Given the description of an element on the screen output the (x, y) to click on. 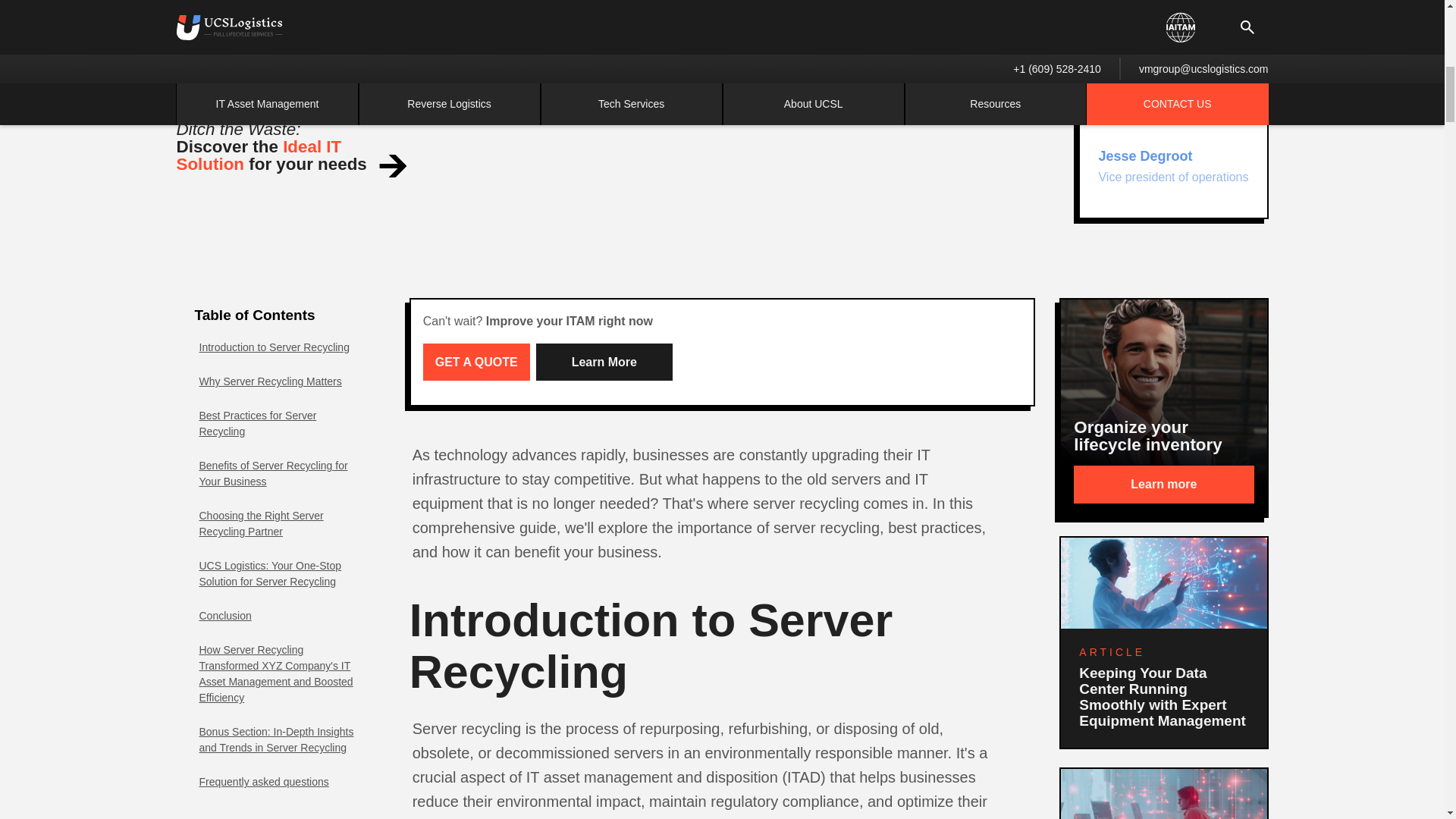
Home (189, 61)
Why Server Recycling Matters (269, 381)
Learn More (603, 362)
Choosing the Right Server Recycling Partner (279, 523)
GET A QUOTE (476, 362)
UCS Logistics: Your One-Stop Solution for Server Recycling (279, 573)
Articles (249, 61)
Frequently asked questions (263, 781)
Best Practices for Server Recycling (279, 423)
Introduction to Server Recycling (1173, 166)
Benefits of Server Recycling for Your Business (273, 347)
